Given the description of an element on the screen output the (x, y) to click on. 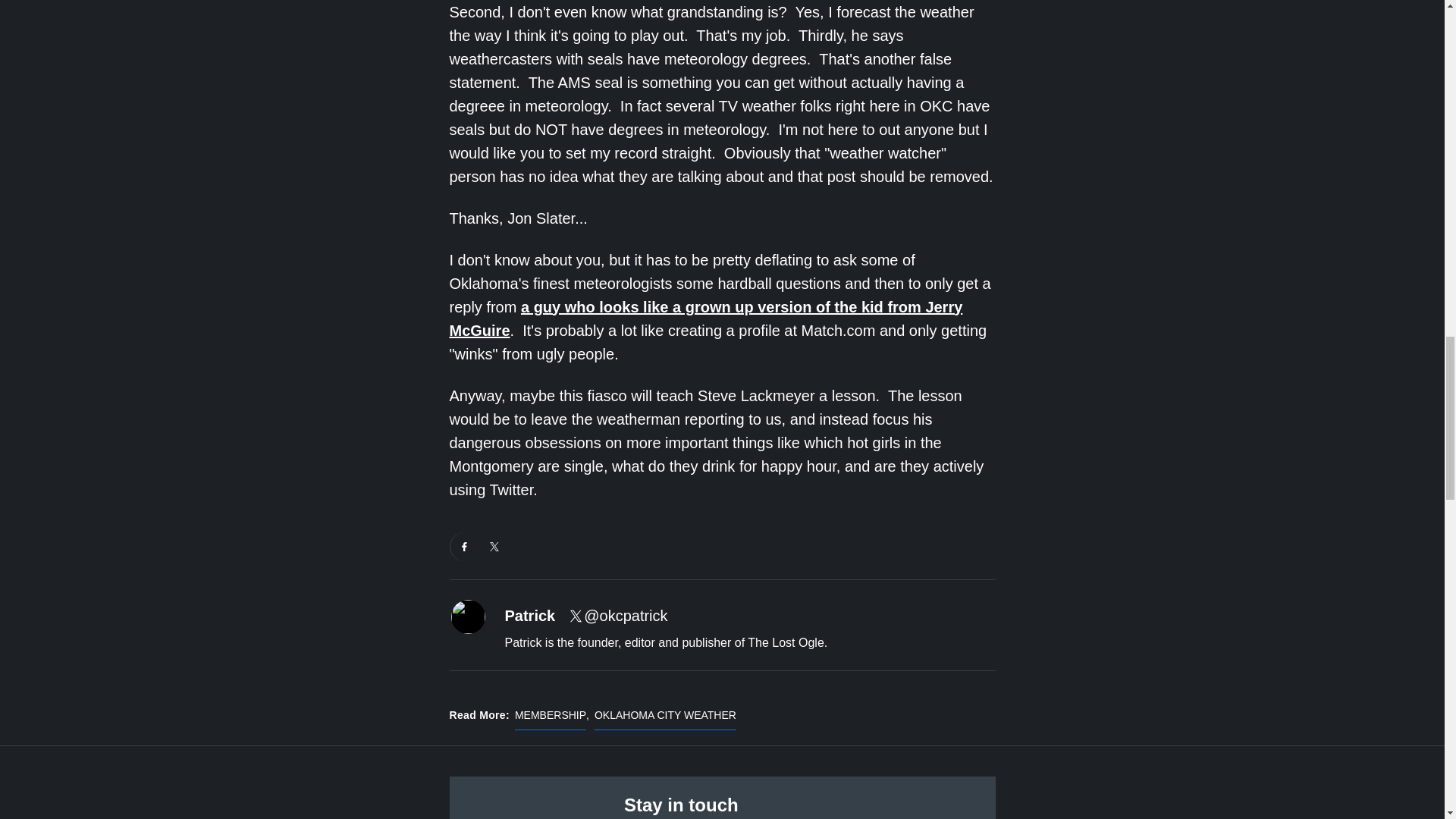
MEMBERSHIP (550, 718)
Patrick (530, 616)
Share on Facebook (464, 546)
OKLAHOMA CITY WEATHER (665, 718)
